Given the description of an element on the screen output the (x, y) to click on. 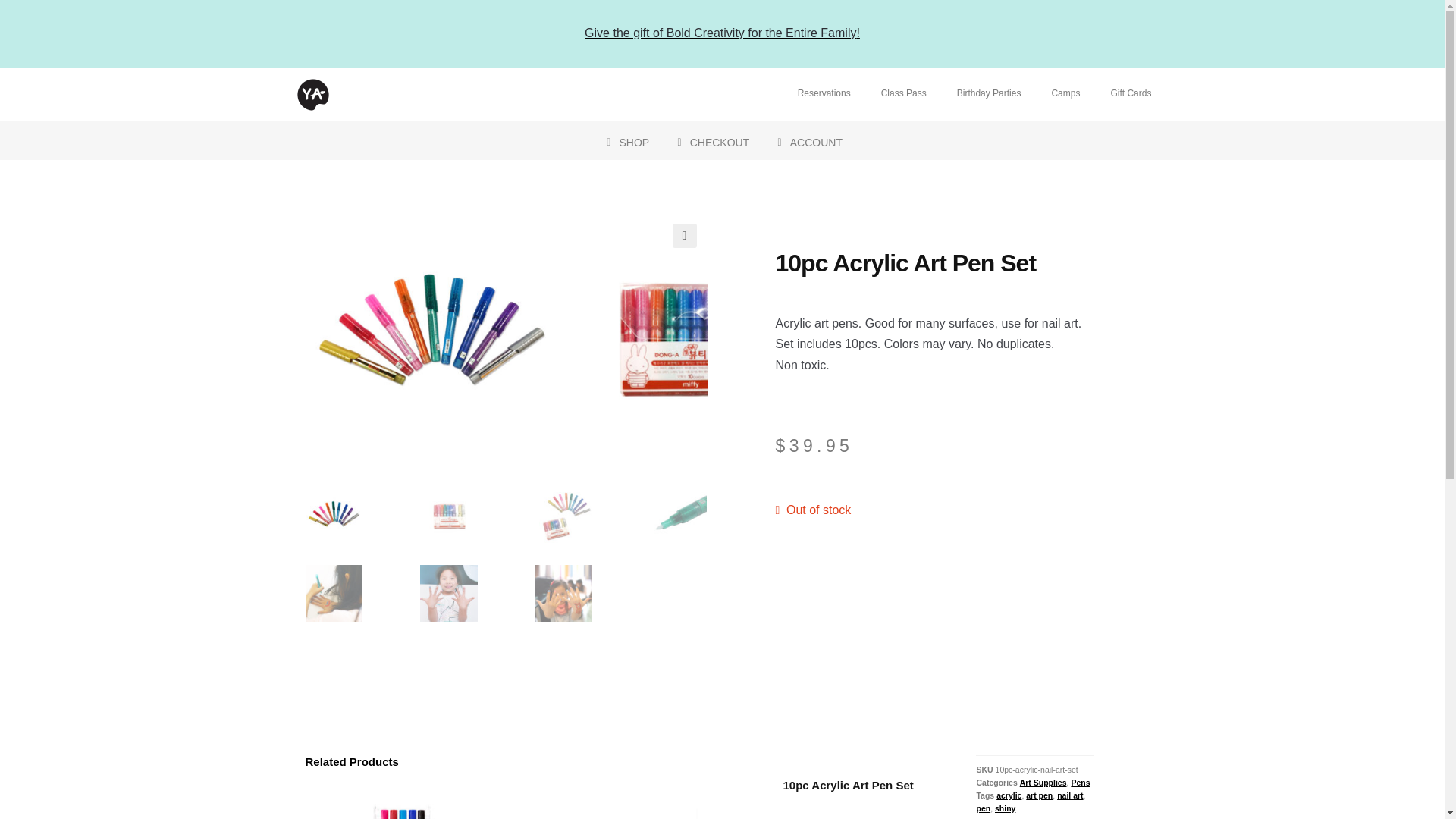
Pens (1079, 782)
Give the gift of Bold Creativity for the Entire Family (720, 32)
SHOP (625, 142)
nail art (1070, 795)
ACCOUNT (808, 142)
acrylic (1008, 795)
Camps (1064, 93)
Reservations (824, 93)
CHECKOUT (710, 142)
Gift Cards (1130, 93)
pen (982, 808)
art pen (1039, 795)
Art Supplies (1043, 782)
shiny (1004, 808)
Birthday Parties (989, 93)
